Given the description of an element on the screen output the (x, y) to click on. 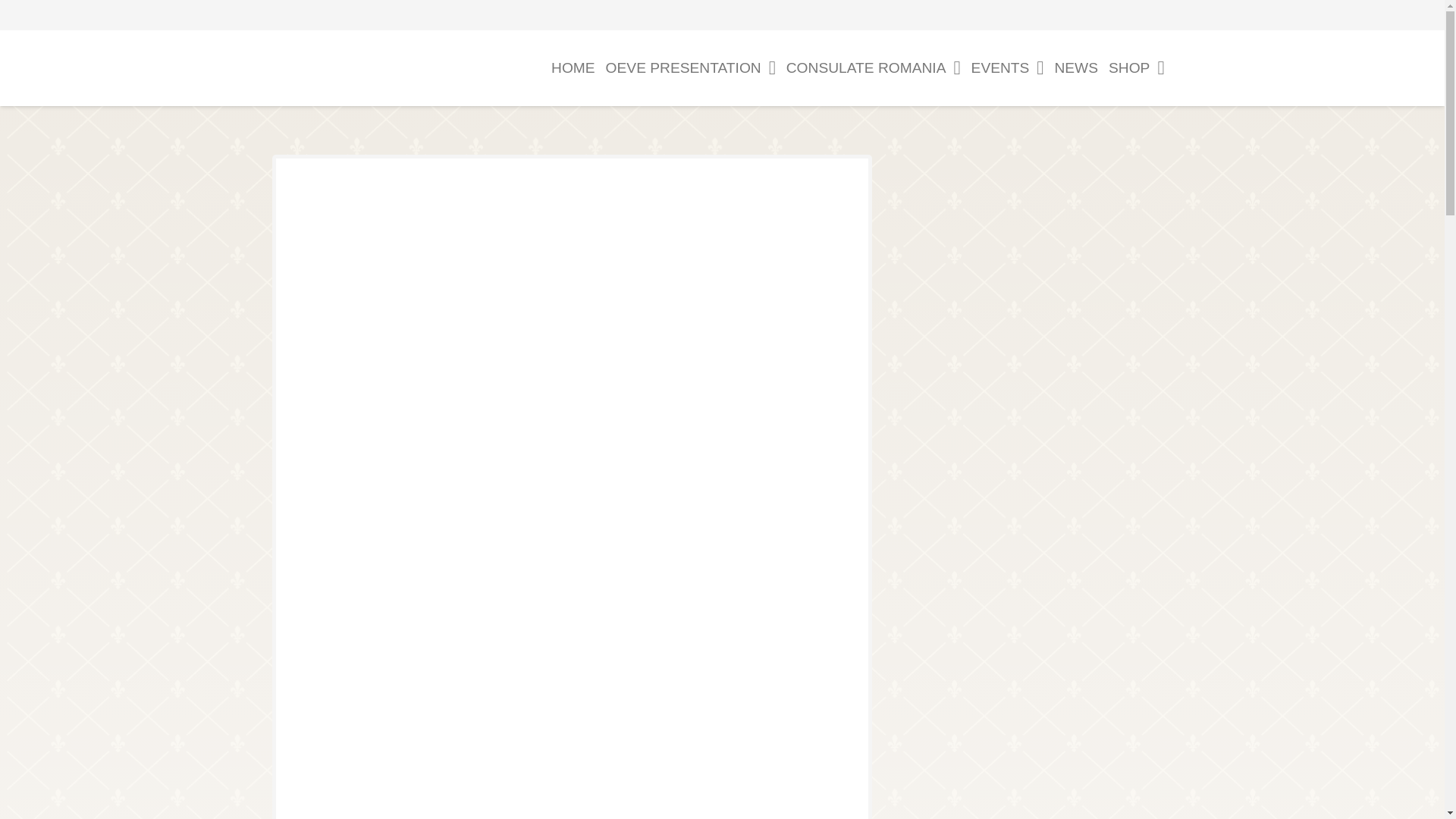
CONSULATE ROMANIA (873, 68)
EVENTS (1007, 68)
OEVE PRESENTATION (689, 68)
